Given the description of an element on the screen output the (x, y) to click on. 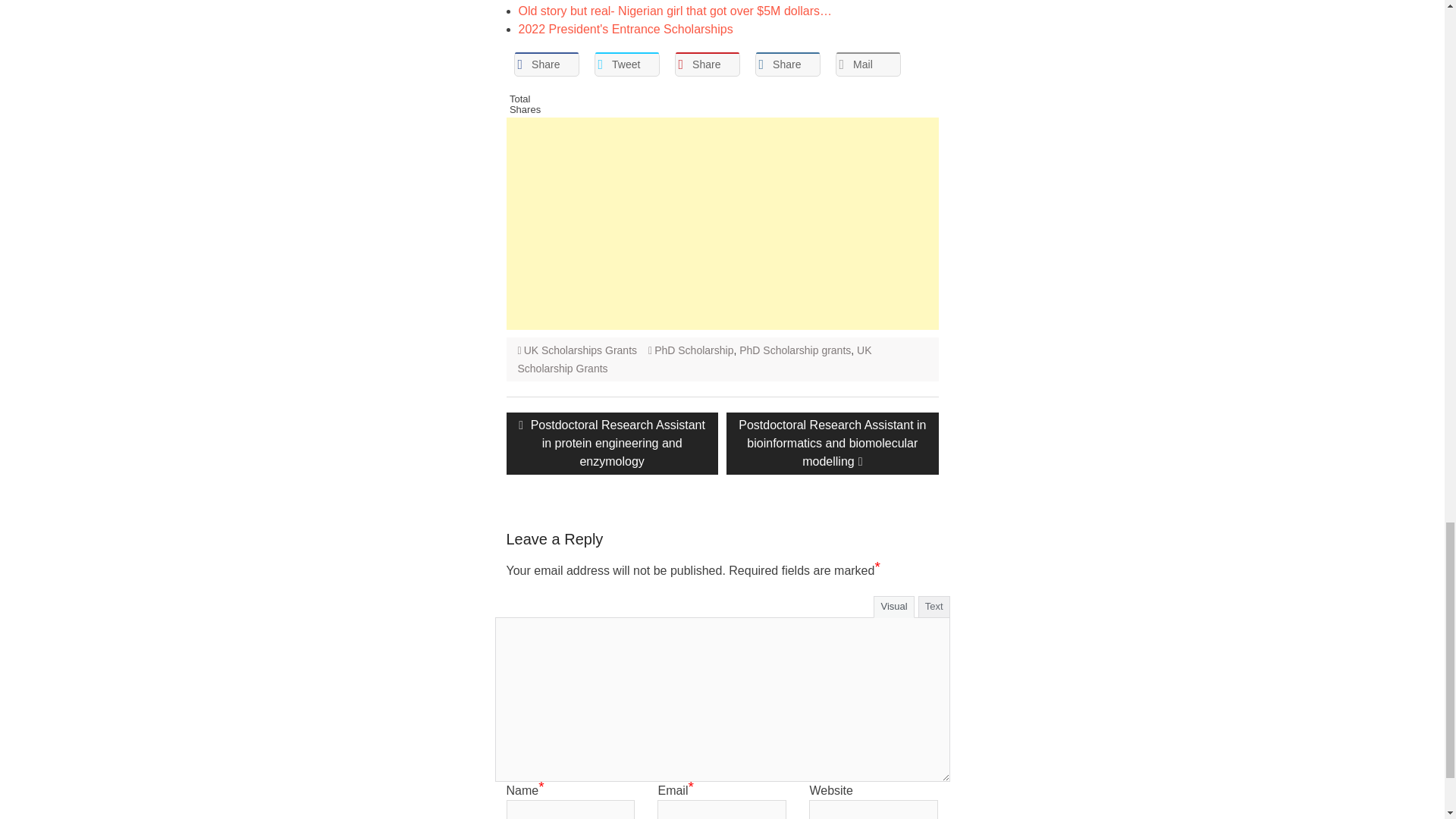
Share on LinkedIn (788, 64)
Share it on Email (868, 64)
Share on Facebook (546, 64)
Share on Pinterest (707, 64)
Share on Twitter (626, 64)
